Given the description of an element on the screen output the (x, y) to click on. 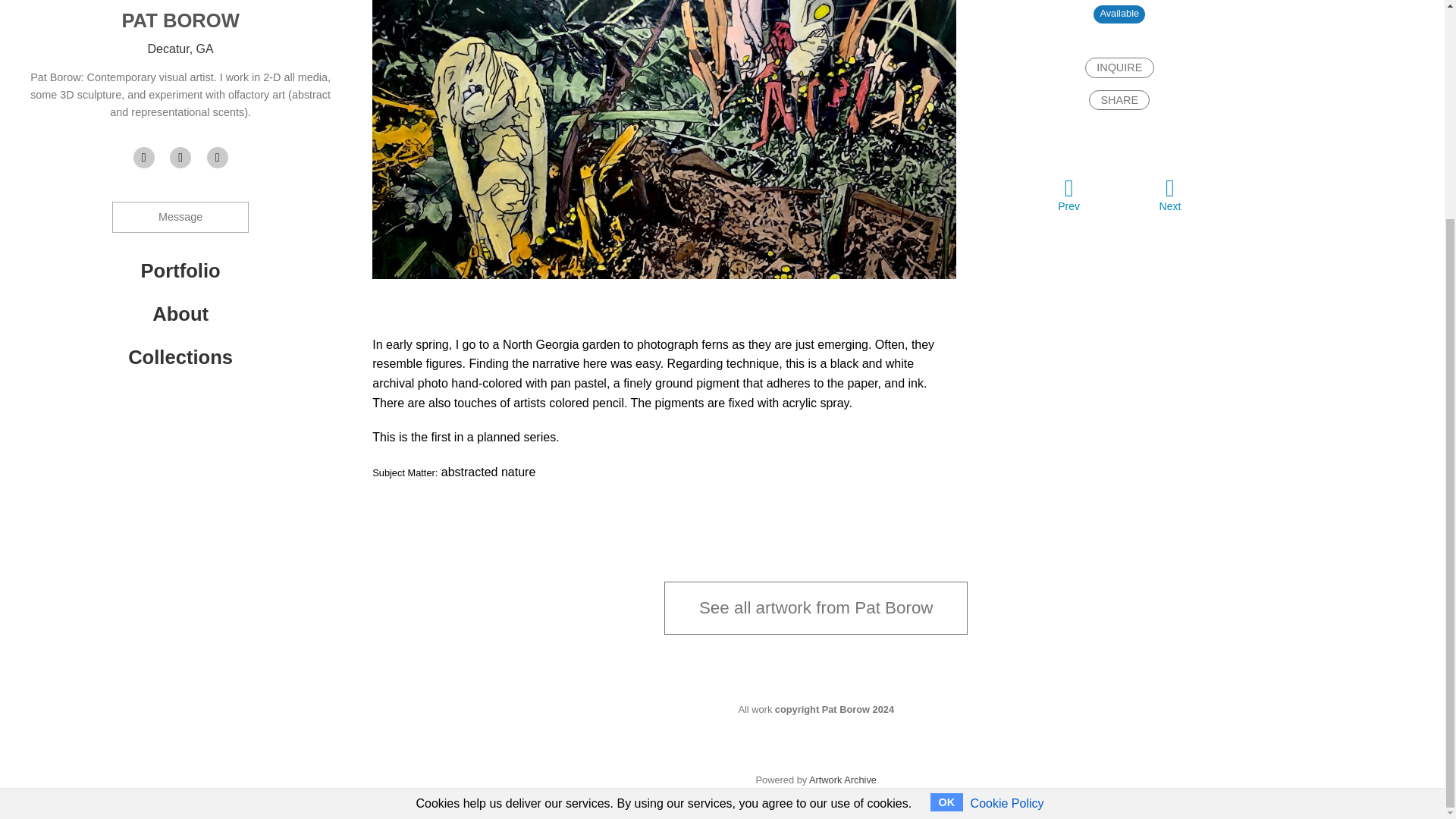
Instagram (217, 157)
Collections (180, 356)
See all artwork from Pat Borow (815, 607)
Portfolio (181, 270)
INQUIRE (1119, 66)
Cookie Policy (1007, 513)
Prev (1068, 193)
Next (1169, 193)
Artwork Archive (842, 779)
Website (143, 157)
Facebook (180, 157)
OK (946, 512)
PAT BOROW (179, 20)
Message (180, 216)
SHARE (1119, 99)
